Given the description of an element on the screen output the (x, y) to click on. 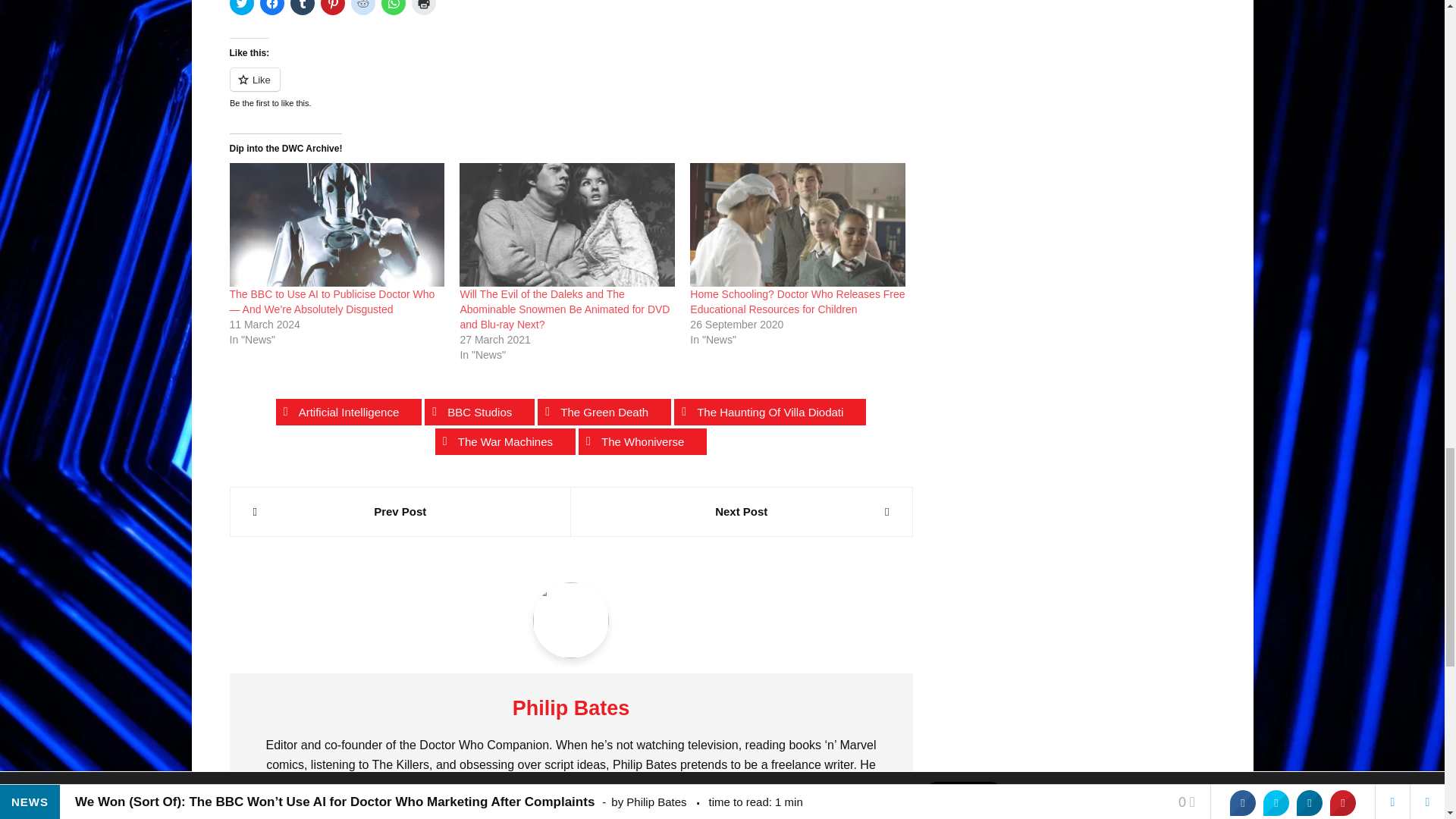
Click to share on Pinterest (331, 7)
Click to share on Reddit (362, 7)
Click to share on Tumblr (301, 7)
Like or Reblog (570, 87)
Click to share on Facebook (271, 7)
Click to share on Twitter (240, 7)
Click to print (422, 7)
Click to share on WhatsApp (392, 7)
